Given the description of an element on the screen output the (x, y) to click on. 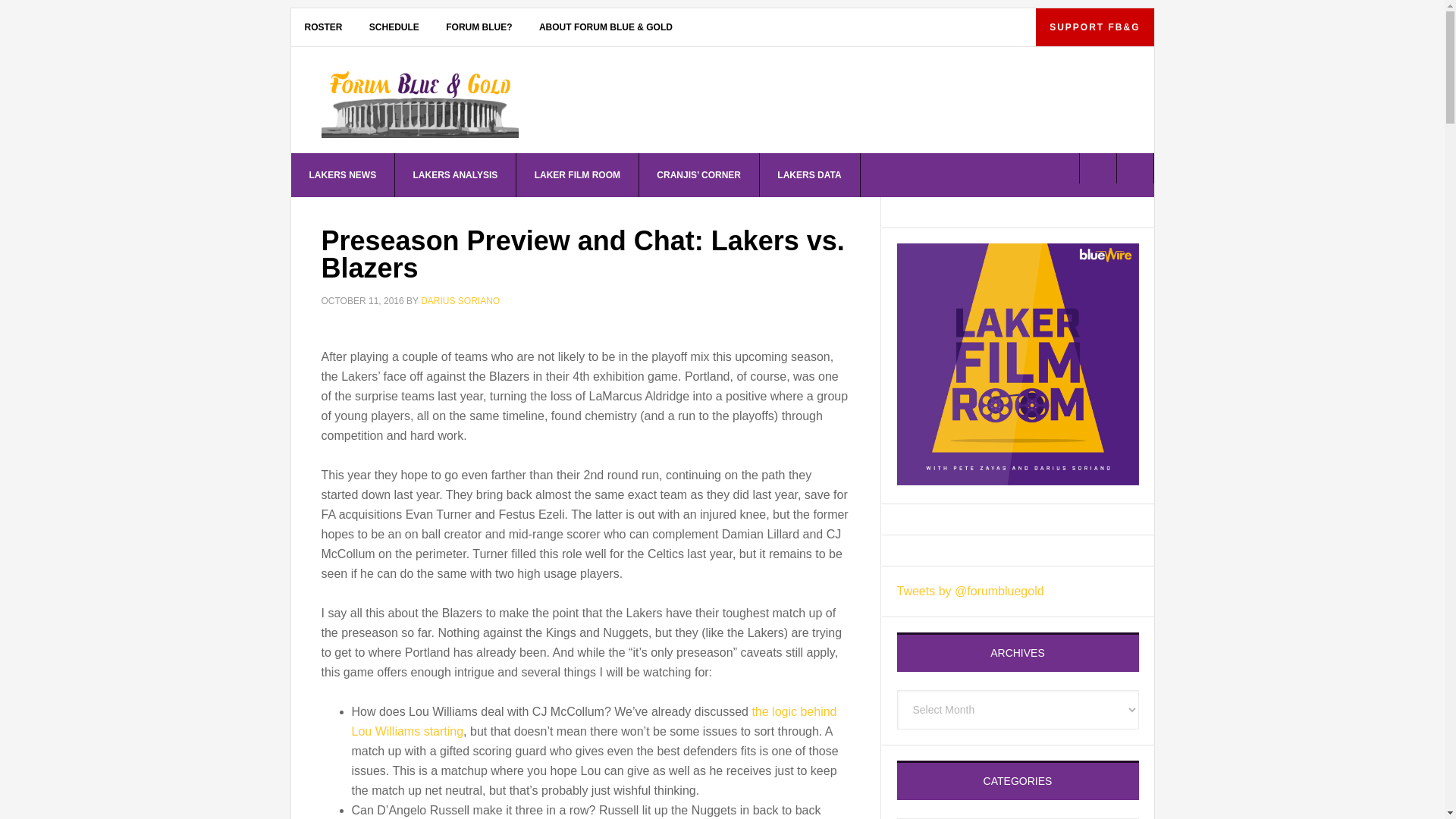
ROSTER (323, 26)
LAKERS DATA (809, 175)
FORUM BLUE AND GOLD (419, 103)
LAKERS ANALYSIS (455, 175)
LAKER FILM ROOM (577, 175)
DARIUS SORIANO (459, 300)
LAKERS NEWS (343, 175)
SCHEDULE (393, 26)
FORUM BLUE? (478, 26)
the logic behind Lou Williams starting (594, 721)
